Given the description of an element on the screen output the (x, y) to click on. 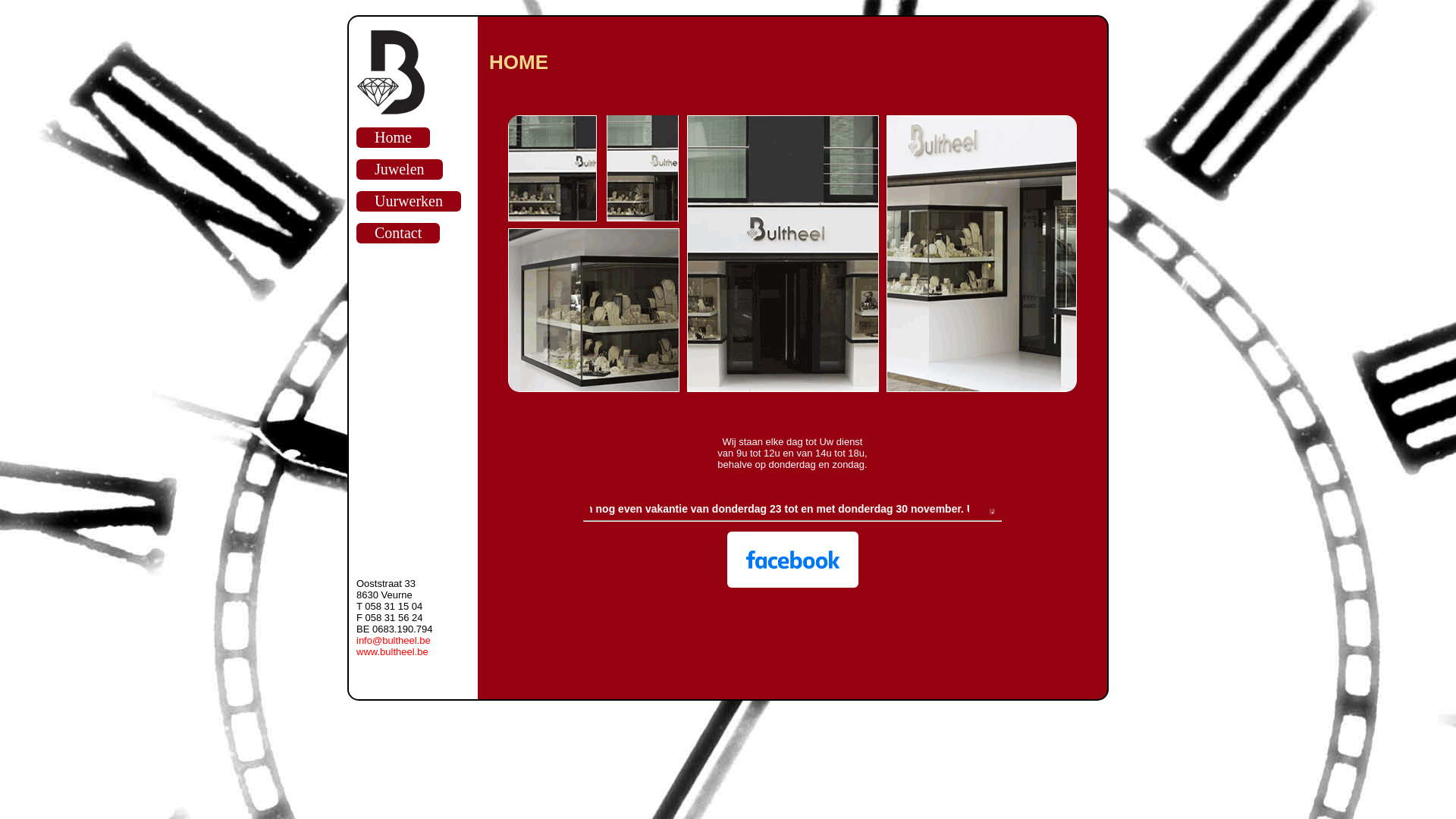
Home Element type: text (392, 137)
info@bultheel.be Element type: text (393, 640)
Contact Element type: text (397, 232)
www.bultheel.be Element type: text (392, 651)
Juwelen Element type: text (399, 169)
Uurwerken Element type: text (408, 201)
